Given the description of an element on the screen output the (x, y) to click on. 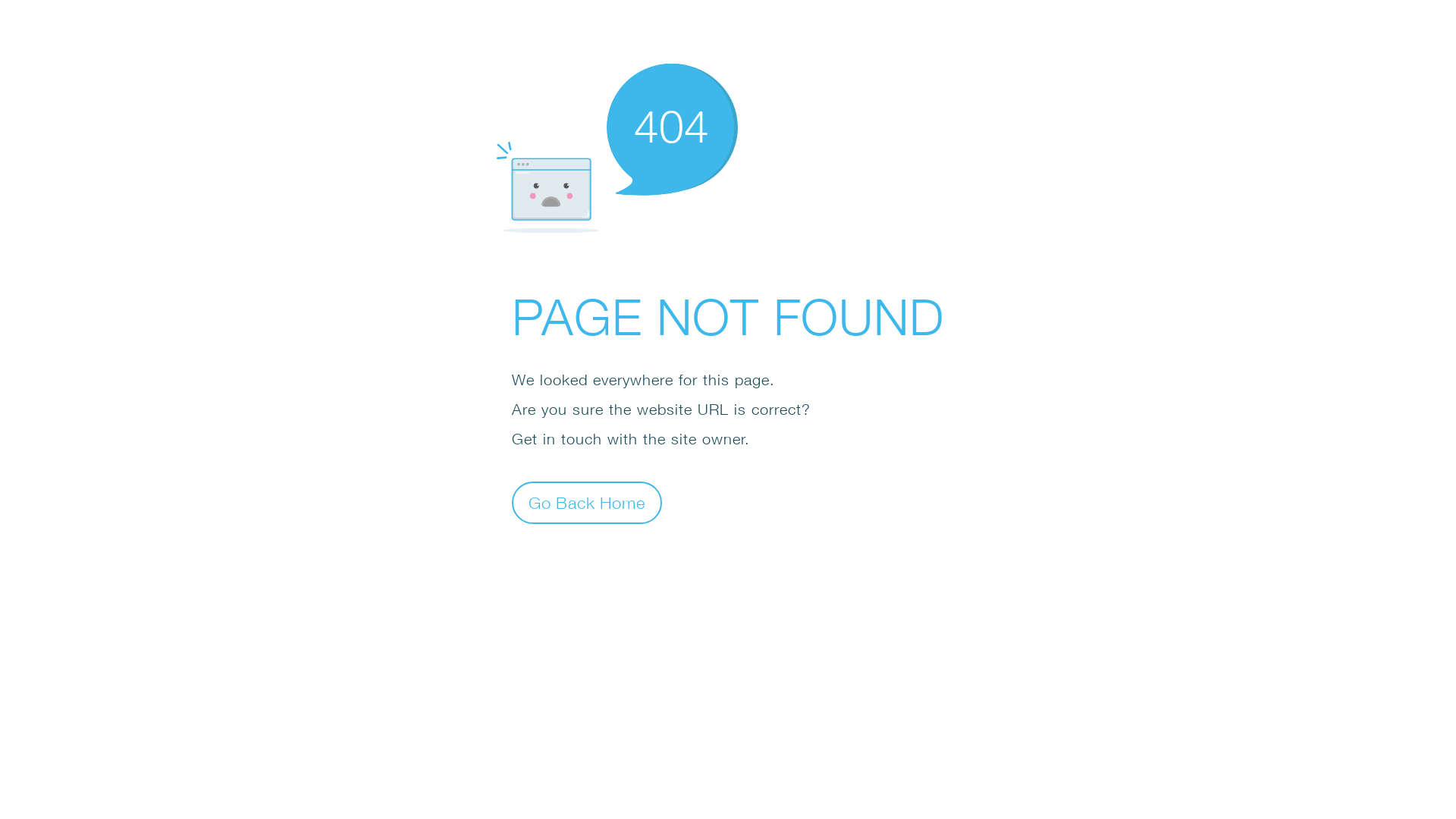
Go Back Home Element type: text (586, 502)
